Given the description of an element on the screen output the (x, y) to click on. 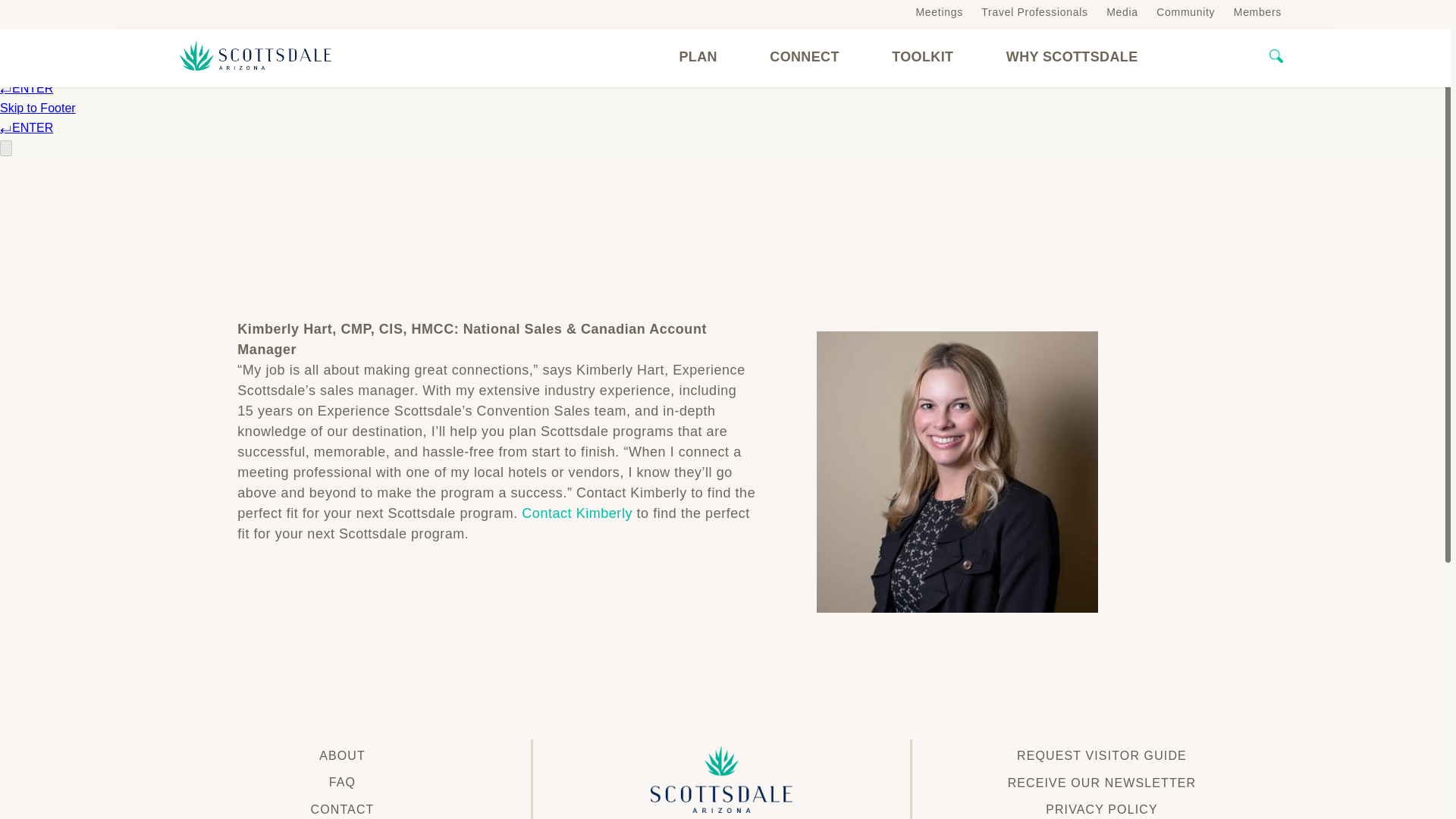
Meetings (938, 11)
Meetings (938, 11)
Travel Professionals (1034, 11)
